Given the description of an element on the screen output the (x, y) to click on. 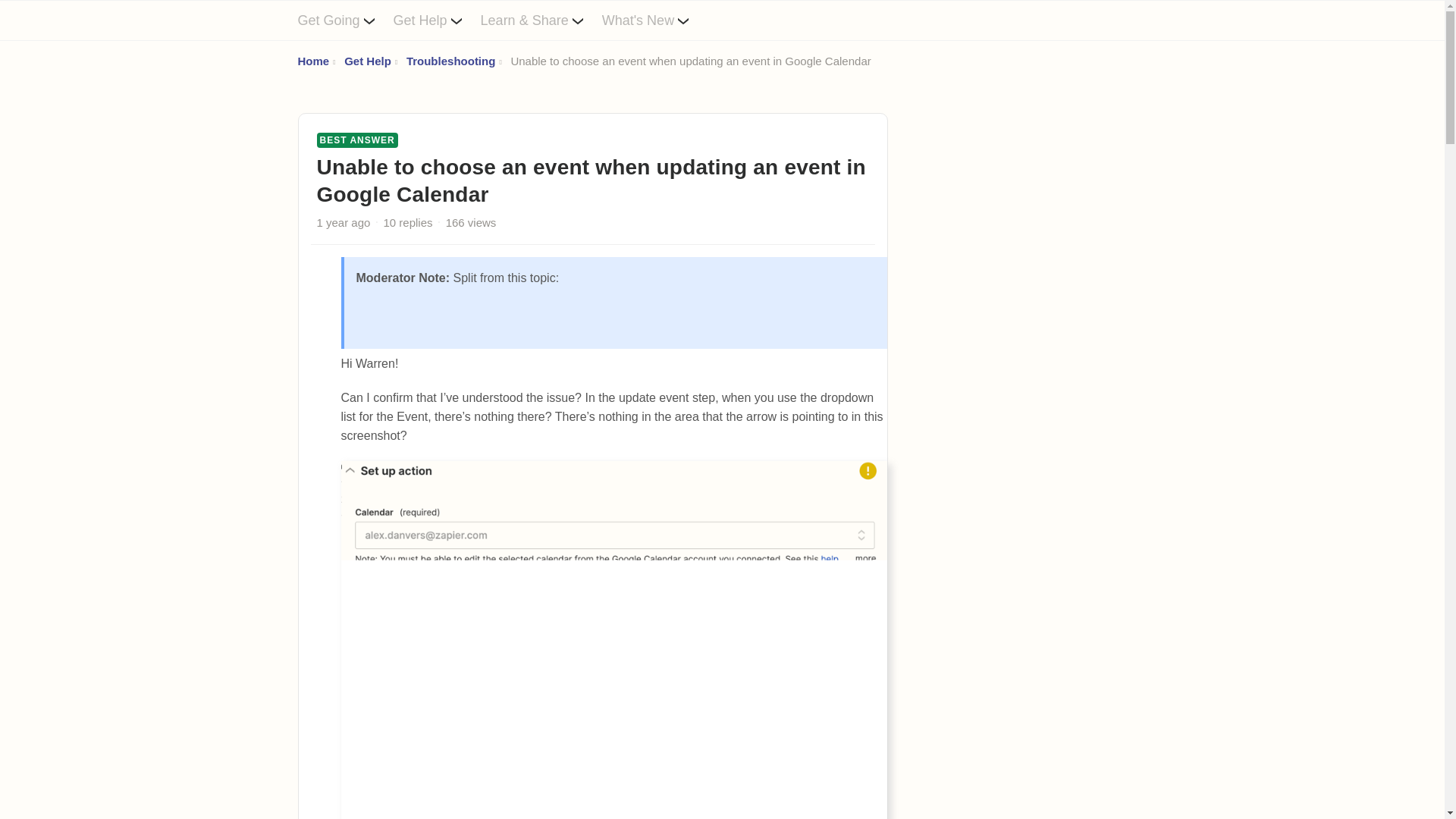
Get Going (345, 20)
Get Help (367, 61)
Get Help (436, 20)
10 replies (408, 222)
Troubleshooting (451, 61)
What's New (654, 20)
Home (313, 61)
